Given the description of an element on the screen output the (x, y) to click on. 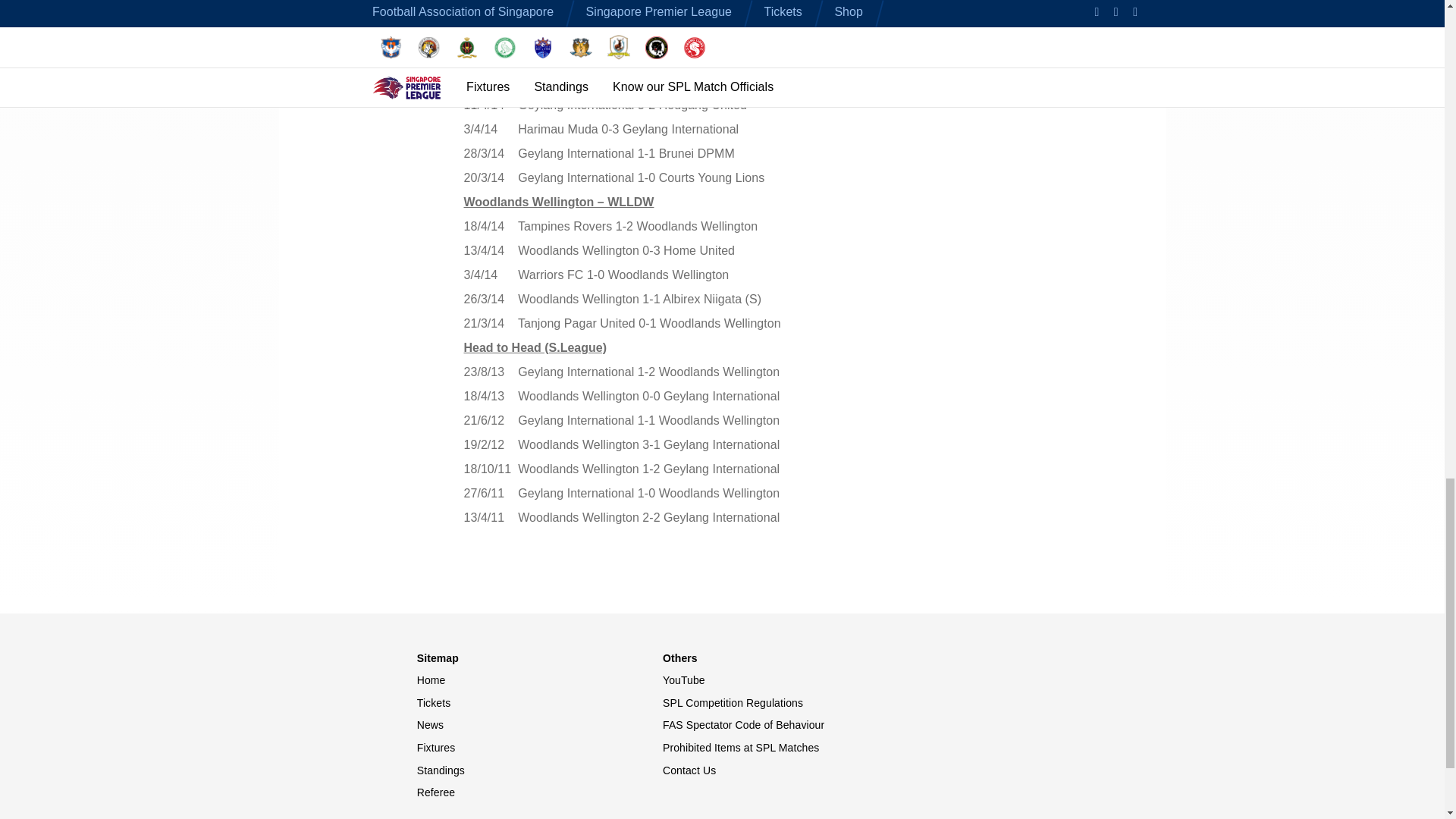
Referee (539, 792)
News (539, 725)
Standings (539, 770)
Sitemap (539, 658)
Home (539, 680)
Fixtures (539, 748)
Tickets (539, 703)
